Given the description of an element on the screen output the (x, y) to click on. 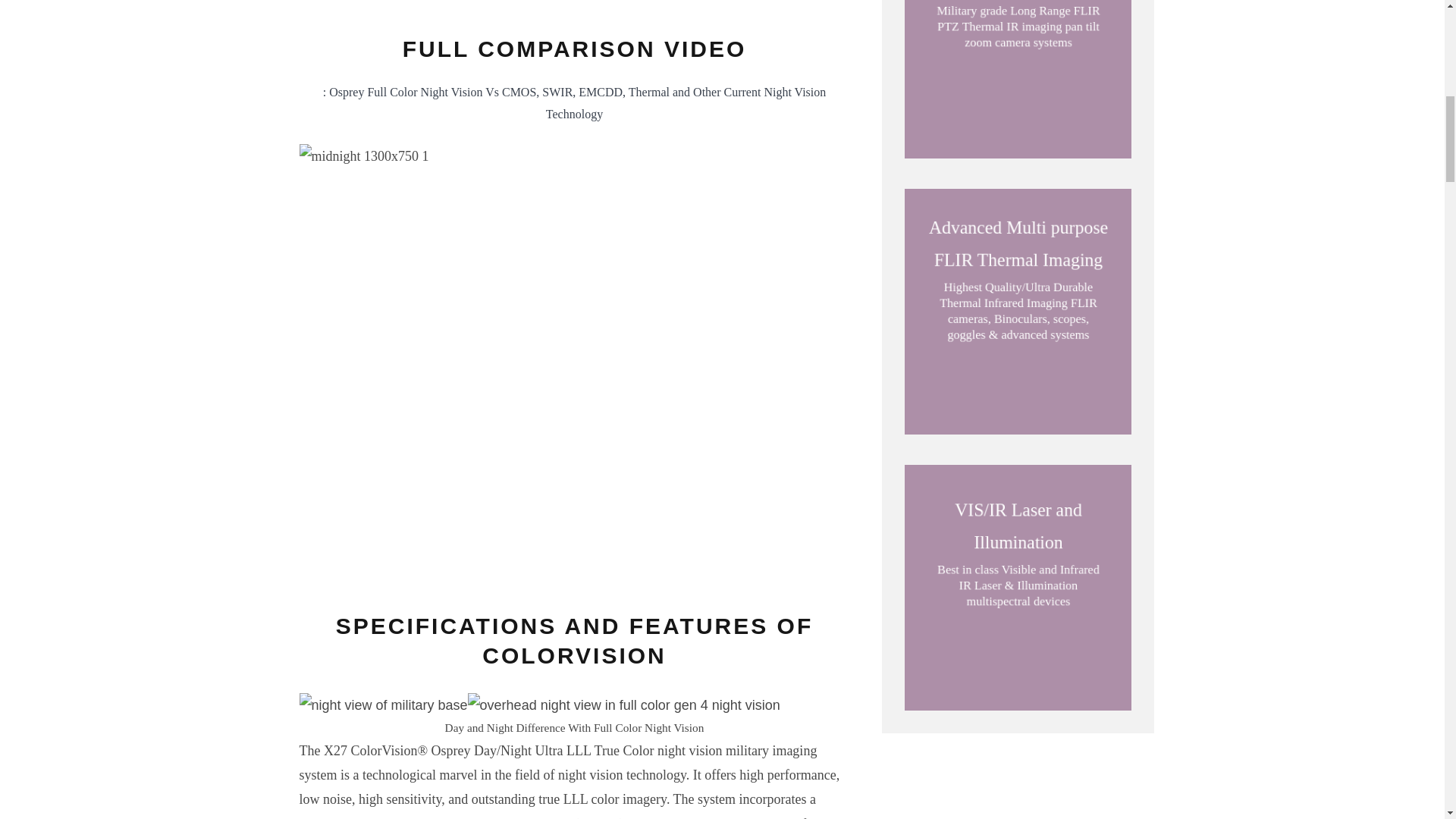
Full Color Night Vision - X27 Osprey Gen 4 Night Vision (623, 704)
Full Color Night Vision - X27 Osprey Gen 4 Night Vision (712, 3)
Full Color Night Vision - X27 Osprey Gen 4 Night Vision (382, 704)
